Given the description of an element on the screen output the (x, y) to click on. 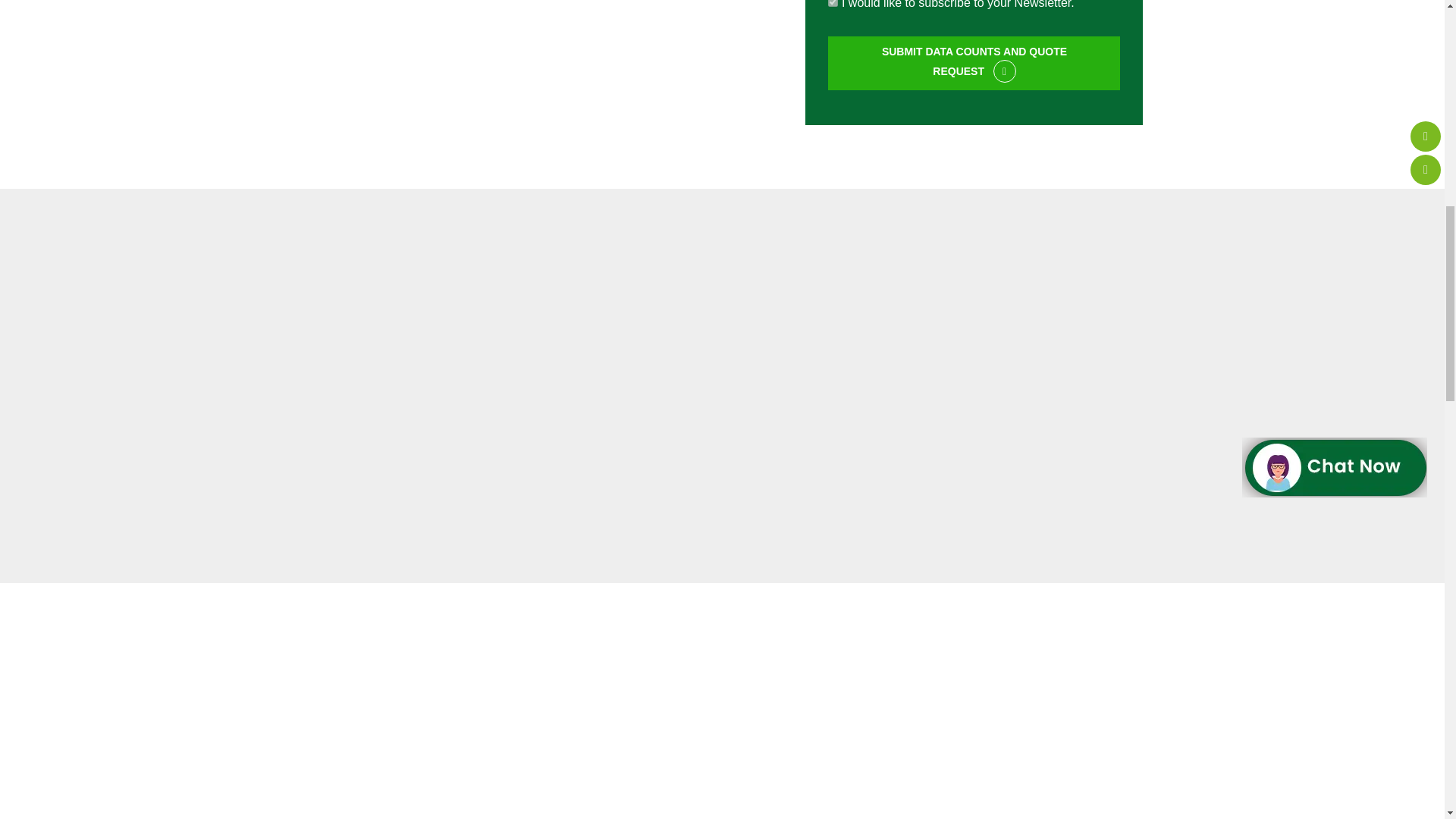
newslettersubscribe (833, 3)
